Given the description of an element on the screen output the (x, y) to click on. 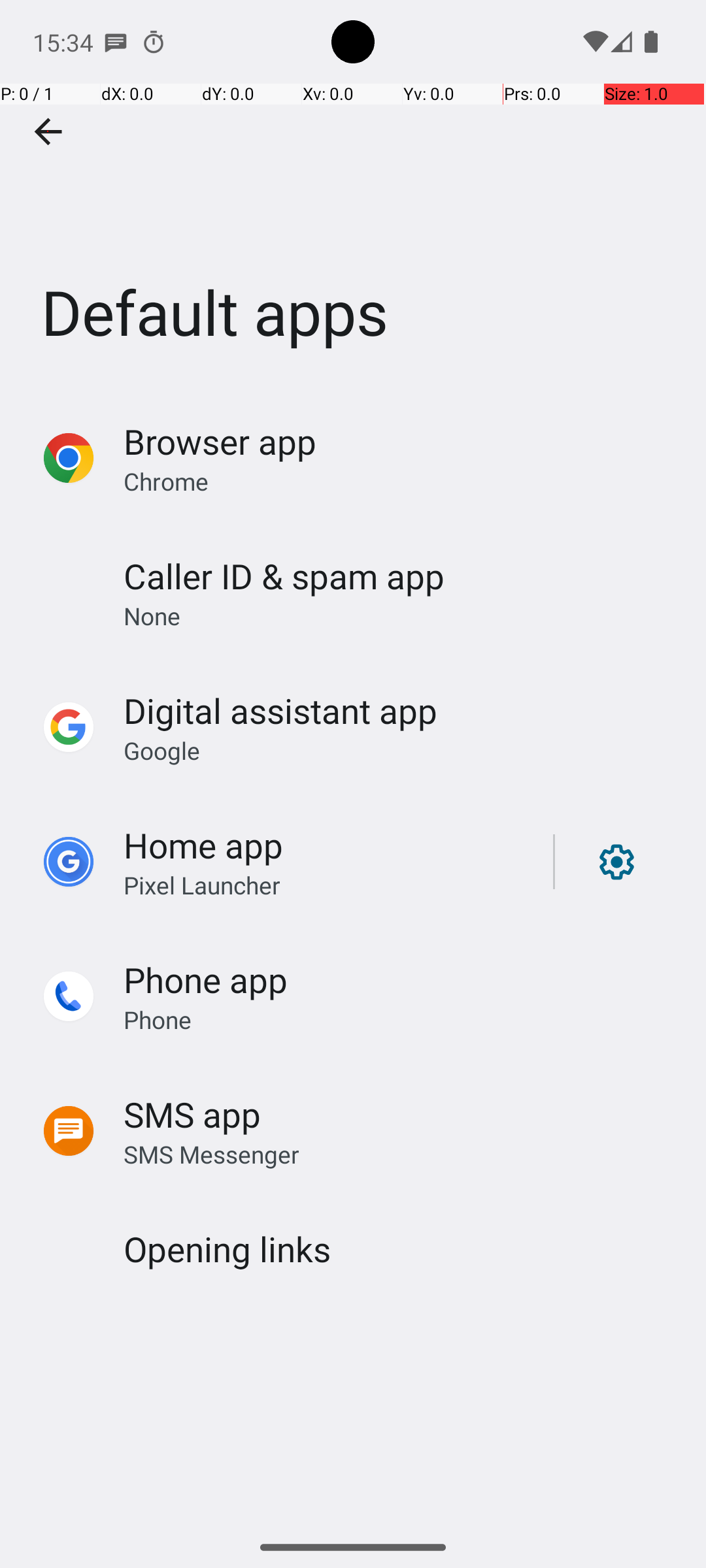
Browser app Element type: android.widget.TextView (220, 441)
Caller ID & spam app Element type: android.widget.TextView (283, 575)
Digital assistant app Element type: android.widget.TextView (280, 710)
Home app Element type: android.widget.TextView (203, 844)
Phone app Element type: android.widget.TextView (205, 979)
SMS app Element type: android.widget.TextView (191, 1114)
Opening links Element type: android.widget.TextView (226, 1248)
